Given the description of an element on the screen output the (x, y) to click on. 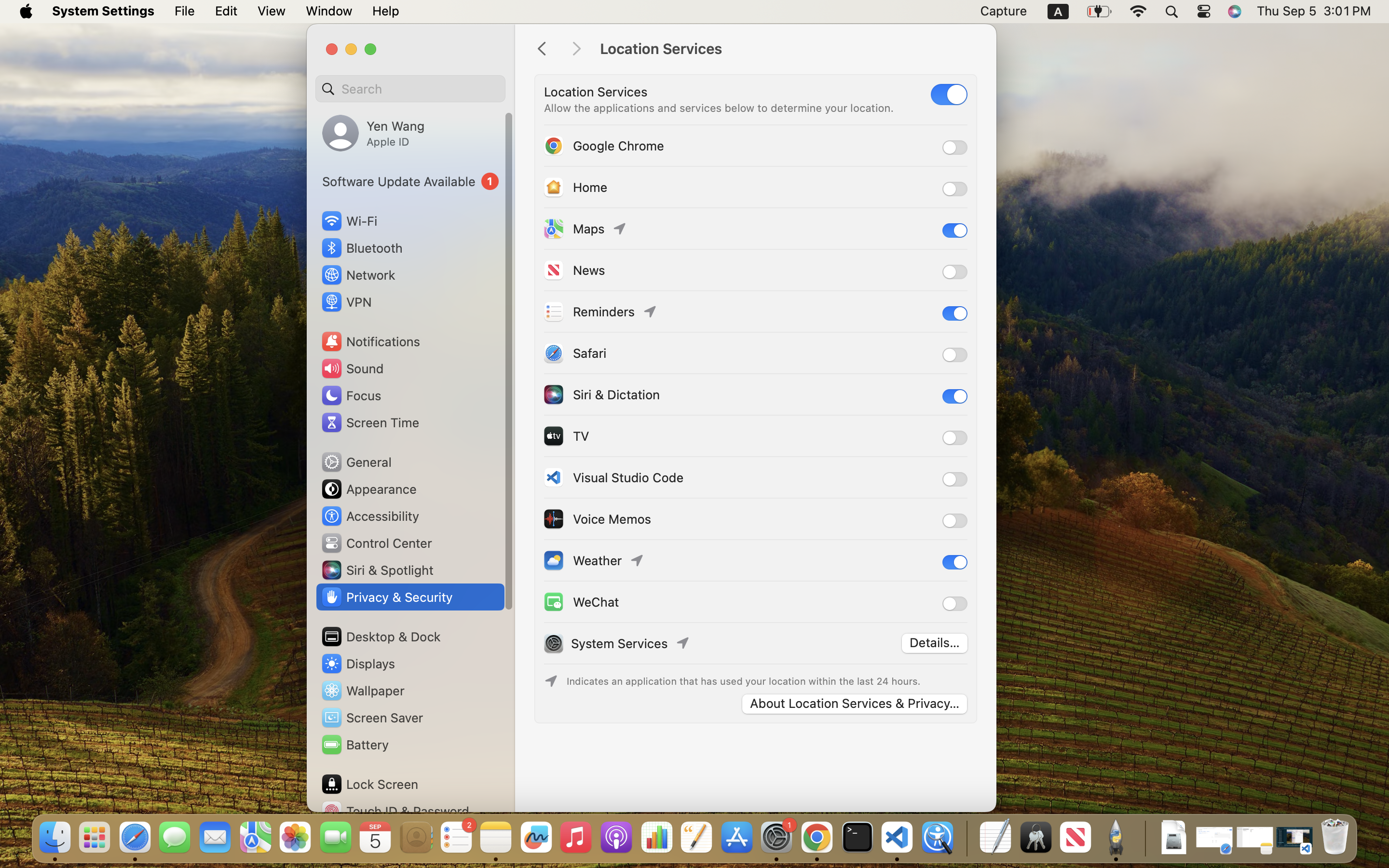
Indicates an application that has used your location within the last 24 hours. Element type: AXStaticText (743, 681)
TV Element type: AXStaticText (565, 435)
Lock Screen Element type: AXStaticText (369, 783)
Touch ID & Password Element type: AXStaticText (394, 810)
Visual Studio Code Element type: AXStaticText (612, 476)
